Given the description of an element on the screen output the (x, y) to click on. 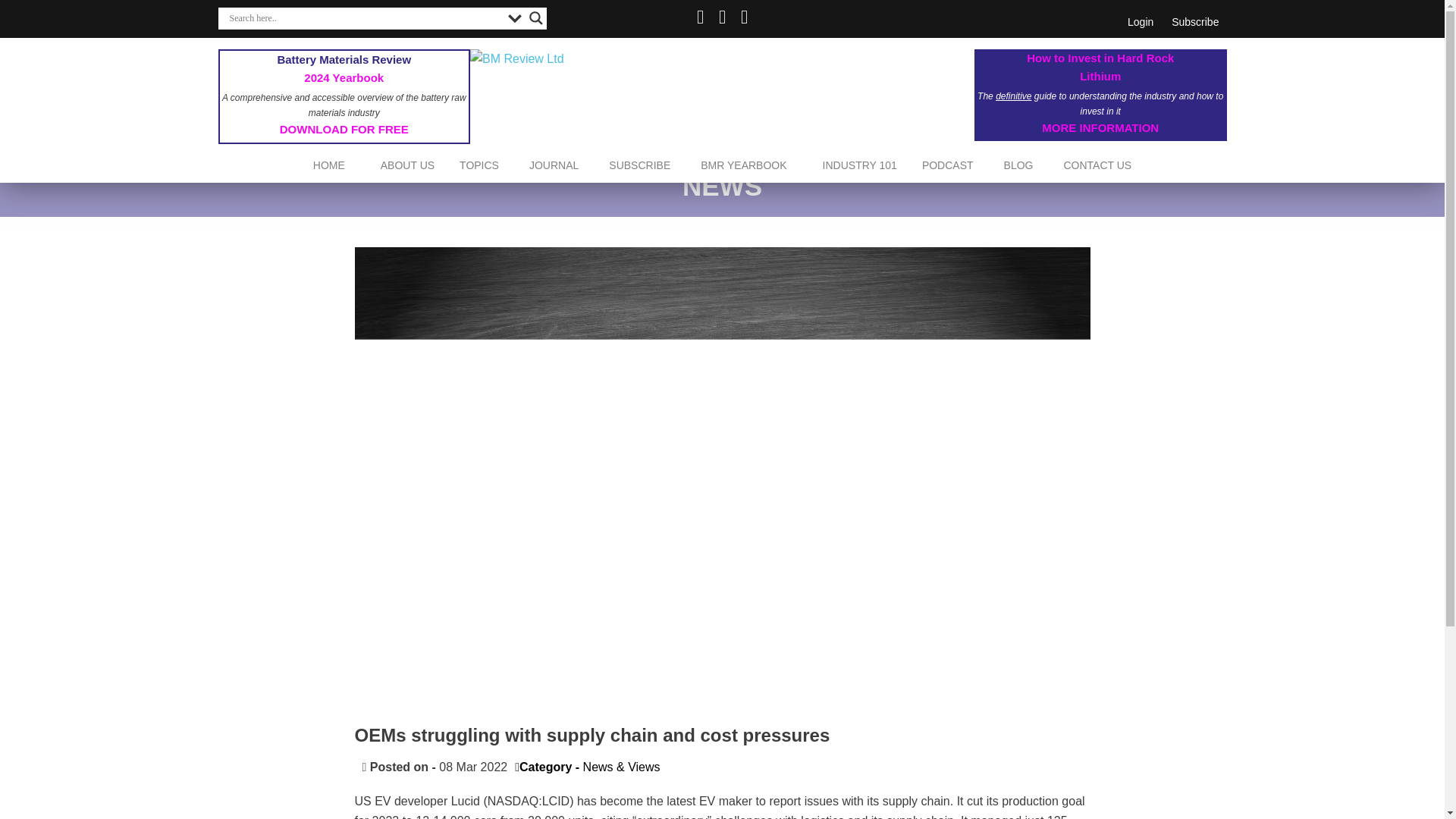
ABOUT US (407, 165)
PODCAST (947, 165)
SUBSCRIBE (1194, 21)
SUBSCRIBE (639, 165)
ABOUT US (407, 165)
MORE INFORMATION (1100, 127)
BM Review Ltd (722, 58)
HOME (328, 165)
TOPICS (478, 165)
BLOG (1018, 165)
DOWNLOAD FOR FREE (343, 129)
CONTACT US (1097, 165)
Subscribe (1194, 21)
Login (1139, 21)
HOME (328, 165)
